Given the description of an element on the screen output the (x, y) to click on. 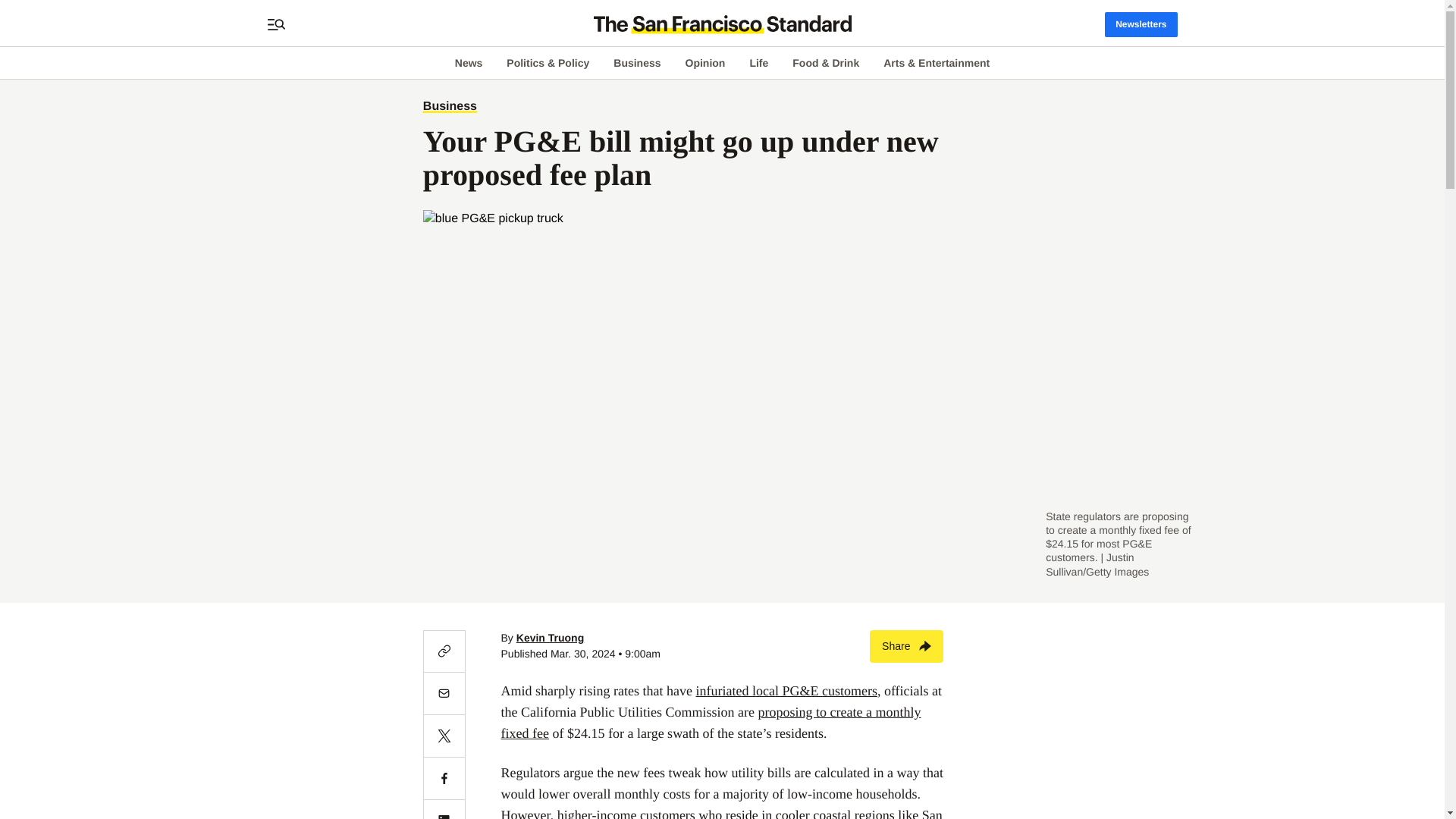
Opinion (705, 62)
Newsletters (1140, 24)
Life (758, 62)
Business (636, 62)
Copy link to this article (444, 650)
proposing to create a monthly fixed fee (710, 722)
Kevin Truong (549, 637)
News (468, 62)
Business (450, 106)
Open search bar and full menu (275, 24)
Share (906, 645)
